Given the description of an element on the screen output the (x, y) to click on. 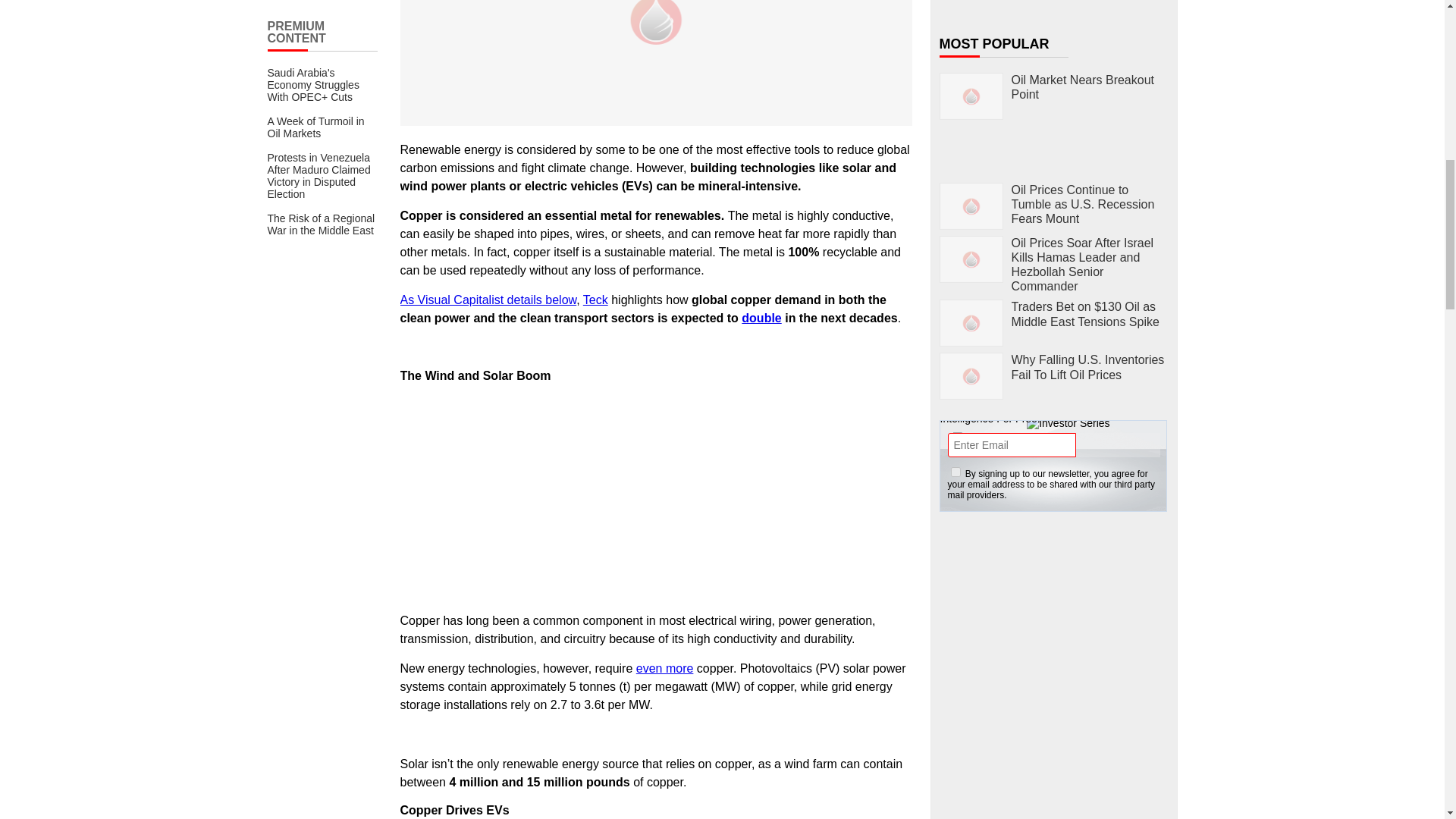
1 (955, 471)
